Given the description of an element on the screen output the (x, y) to click on. 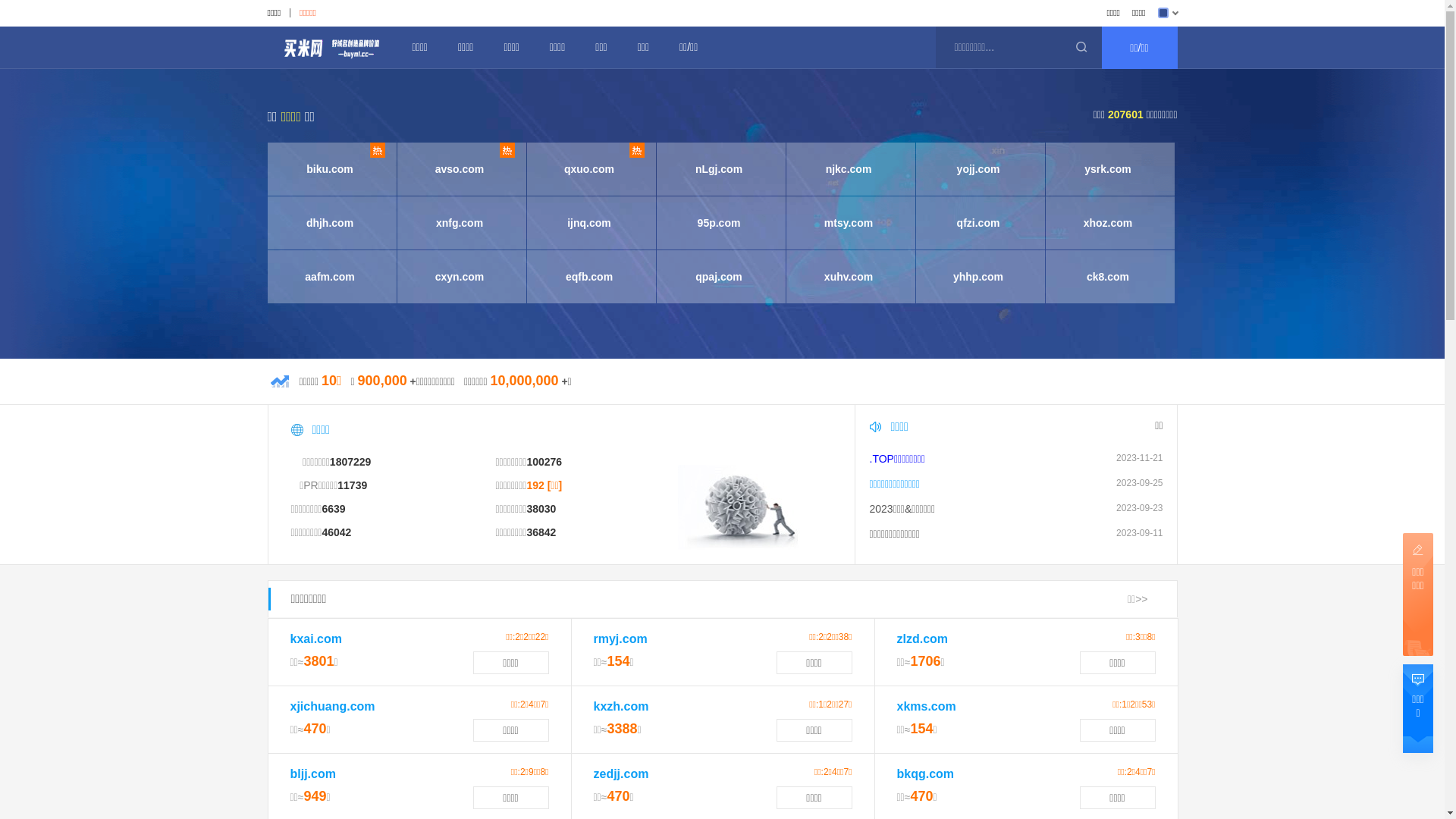
avso.com Element type: text (459, 168)
dhjh.com Element type: text (329, 222)
njkc.com Element type: text (848, 168)
ijnq.com Element type: text (588, 222)
biku.com Element type: text (329, 168)
qpaj.com Element type: text (719, 276)
eqfb.com Element type: text (588, 276)
qfzi.com Element type: text (978, 222)
1807229 Element type: text (350, 461)
xnfg.com Element type: text (459, 222)
xhoz.com Element type: text (1107, 222)
46042 Element type: text (336, 532)
yojj.com Element type: text (978, 168)
nLgj.com Element type: text (719, 168)
qxuo.com Element type: text (588, 168)
100276 Element type: text (543, 461)
11739 Element type: text (352, 485)
aafm.com Element type: text (329, 276)
ysrk.com Element type: text (1107, 168)
38030 Element type: text (540, 508)
36842 Element type: text (540, 532)
ck8.com Element type: text (1107, 276)
xuhv.com Element type: text (848, 276)
cxyn.com Element type: text (459, 276)
95p.com Element type: text (719, 222)
yhhp.com Element type: text (978, 276)
6639 Element type: text (333, 508)
mtsy.com Element type: text (848, 222)
